Given the description of an element on the screen output the (x, y) to click on. 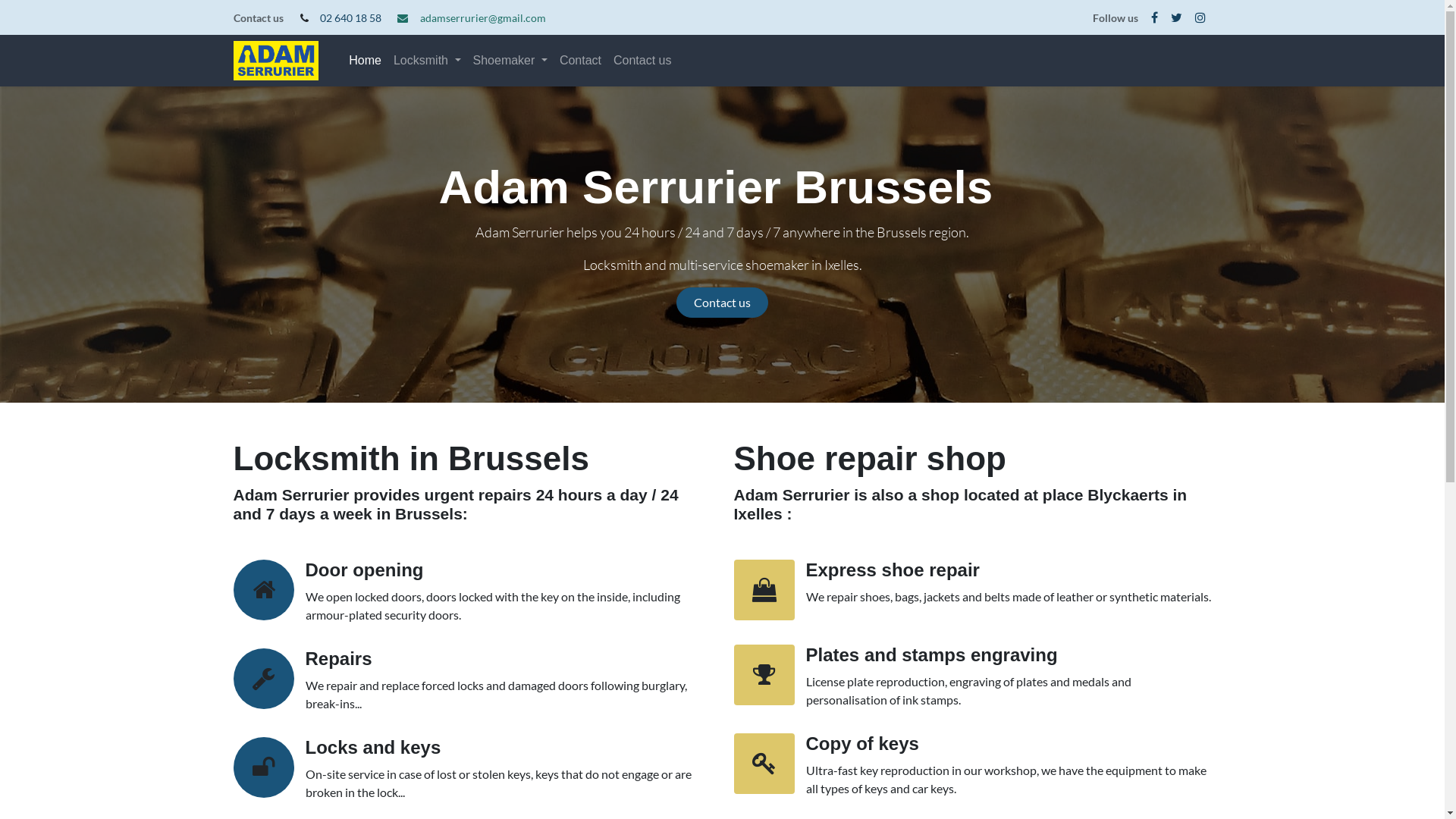
Adam Serrurier Bruxelles Element type: hover (276, 60)
Home Element type: text (364, 60)
Locksmith Element type: text (427, 60)
Shoemaker Element type: text (510, 60)
Contact us Element type: text (721, 302)
02 640 18 58 Element type: text (350, 17)
Contact us Element type: text (642, 60)
Contact Element type: text (580, 60)
